Given the description of an element on the screen output the (x, y) to click on. 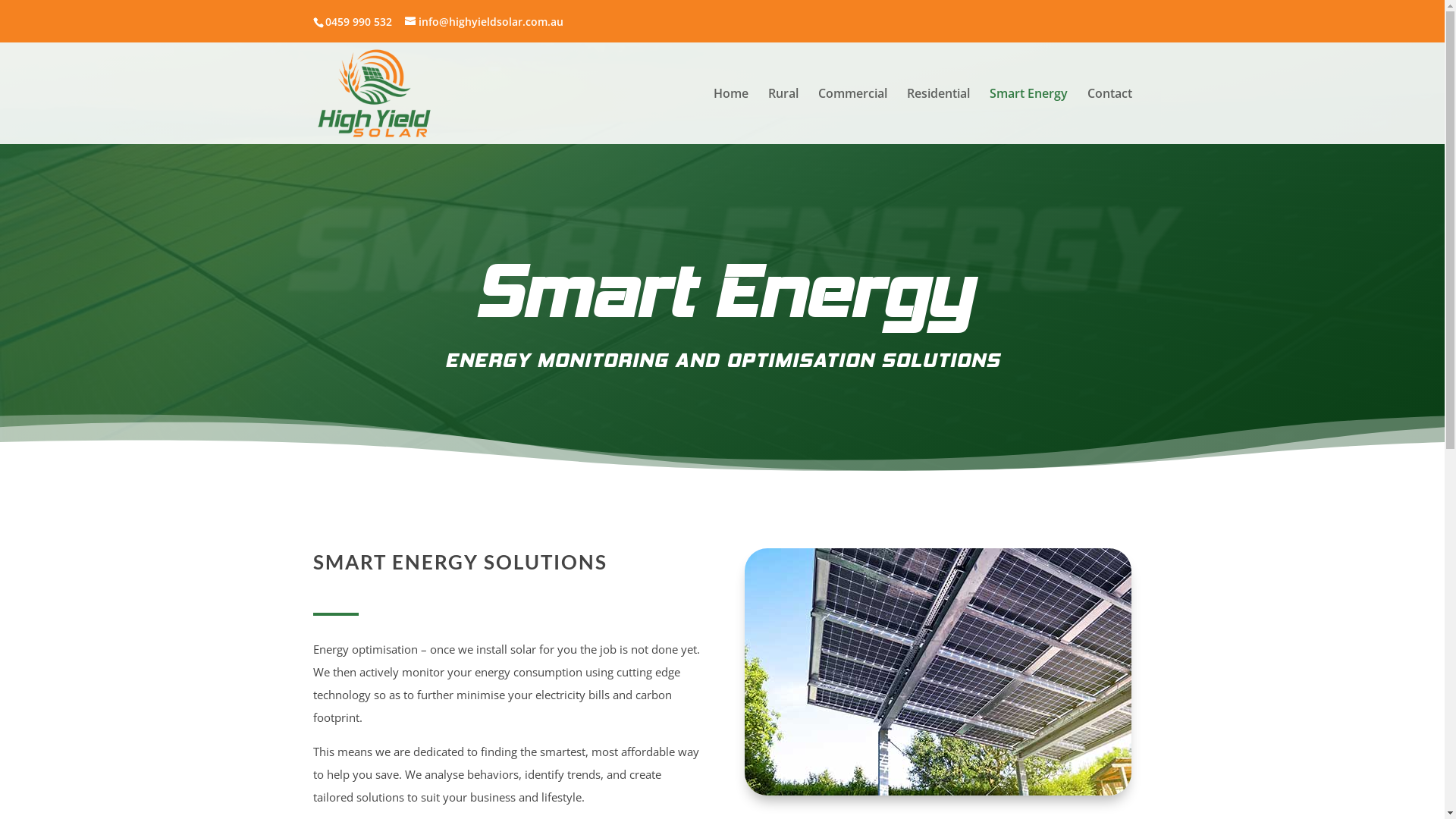
Commercial Element type: text (851, 115)
Smart Energy Element type: text (1027, 115)
Residential Element type: text (937, 115)
Smart Energy Solutions - Tasmania Element type: hover (937, 671)
Rural Element type: text (782, 115)
Home Element type: text (729, 115)
info@highyieldsolar.com.au Element type: text (483, 20)
0459 990 532 Element type: text (357, 20)
Contact Element type: text (1109, 115)
